Given the description of an element on the screen output the (x, y) to click on. 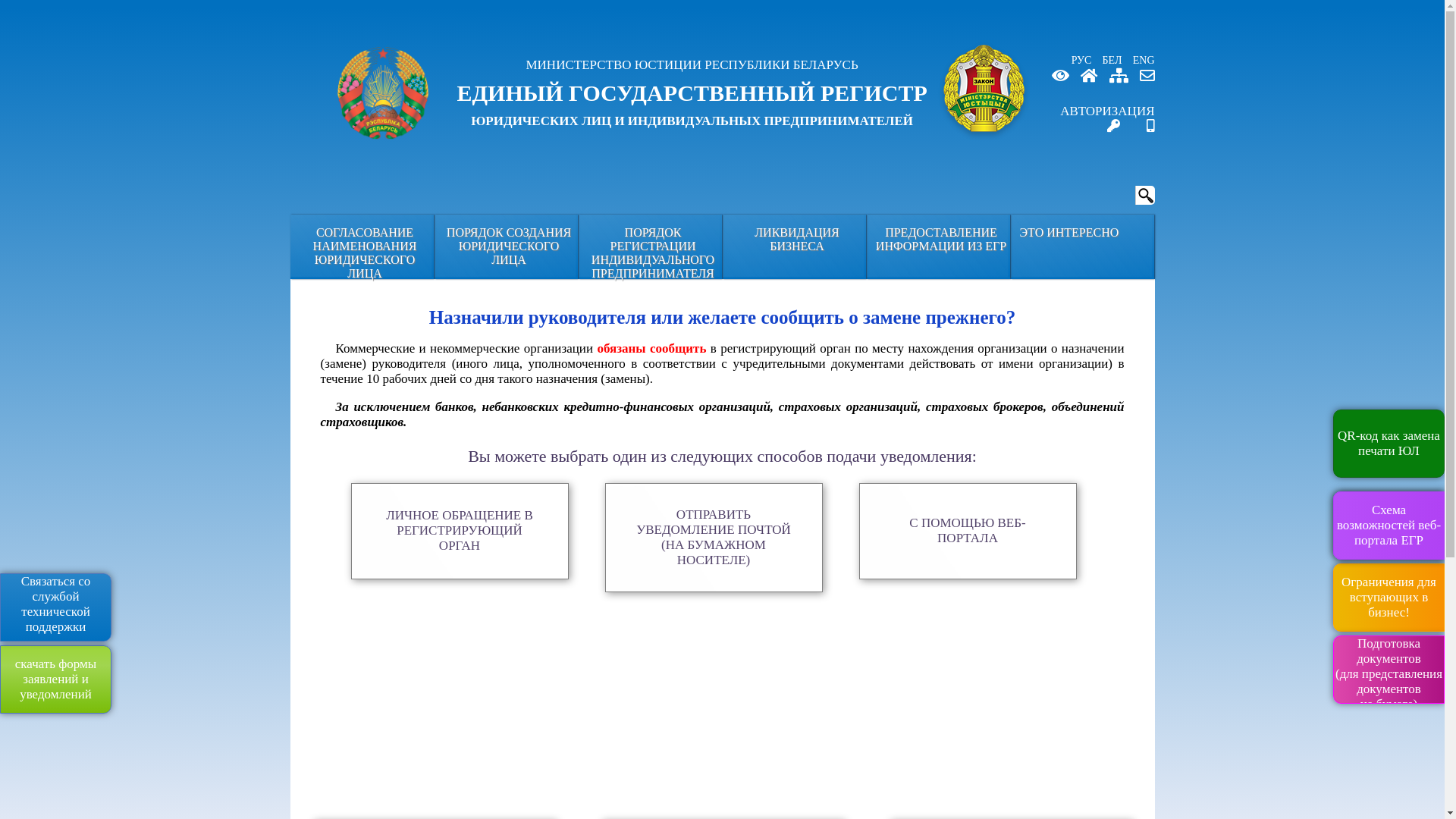
ENG Element type: text (1139, 59)
